Given the description of an element on the screen output the (x, y) to click on. 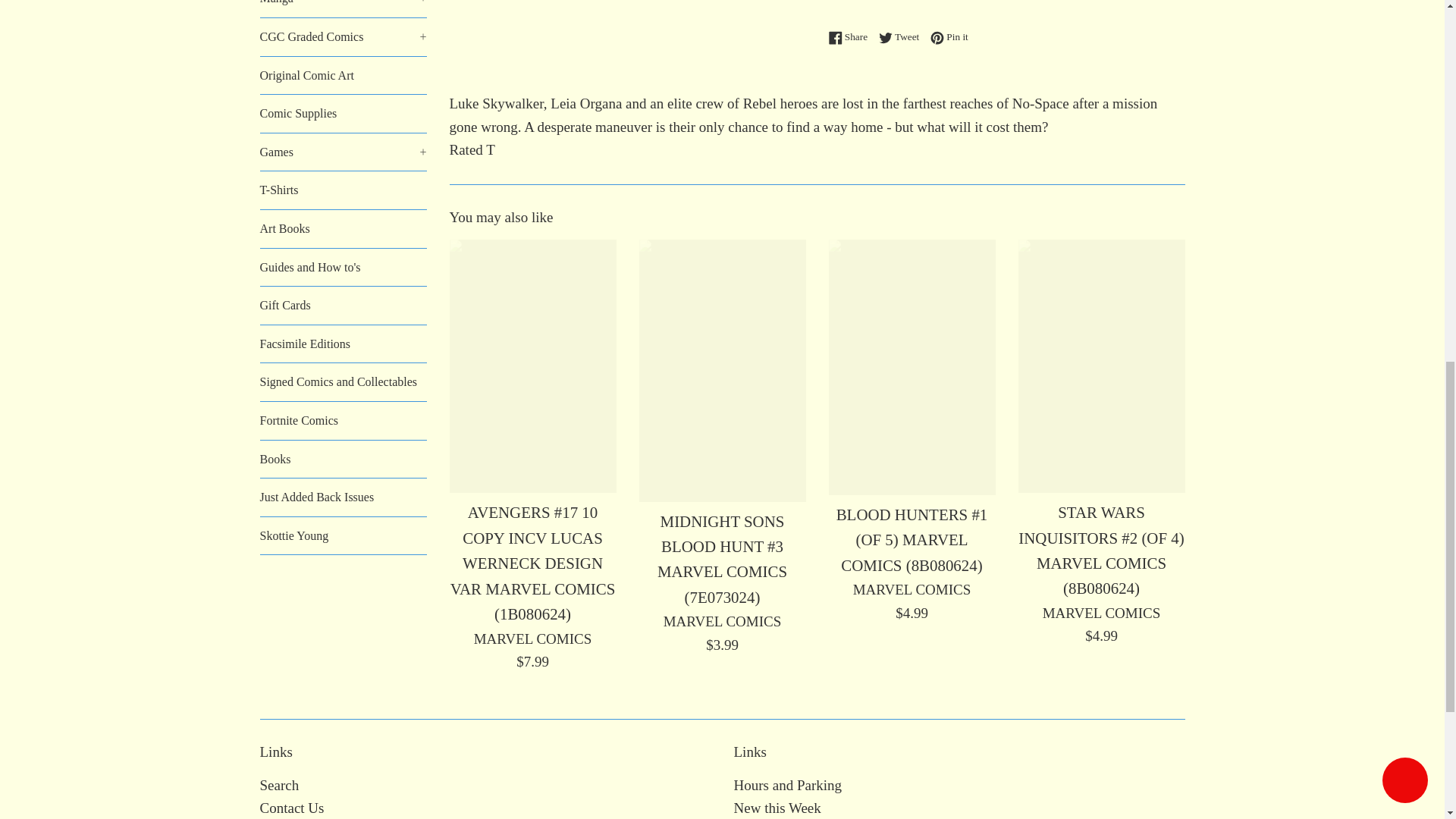
Tweet on Twitter (902, 36)
Pin on Pinterest (949, 36)
Share on Facebook (851, 36)
